Given the description of an element on the screen output the (x, y) to click on. 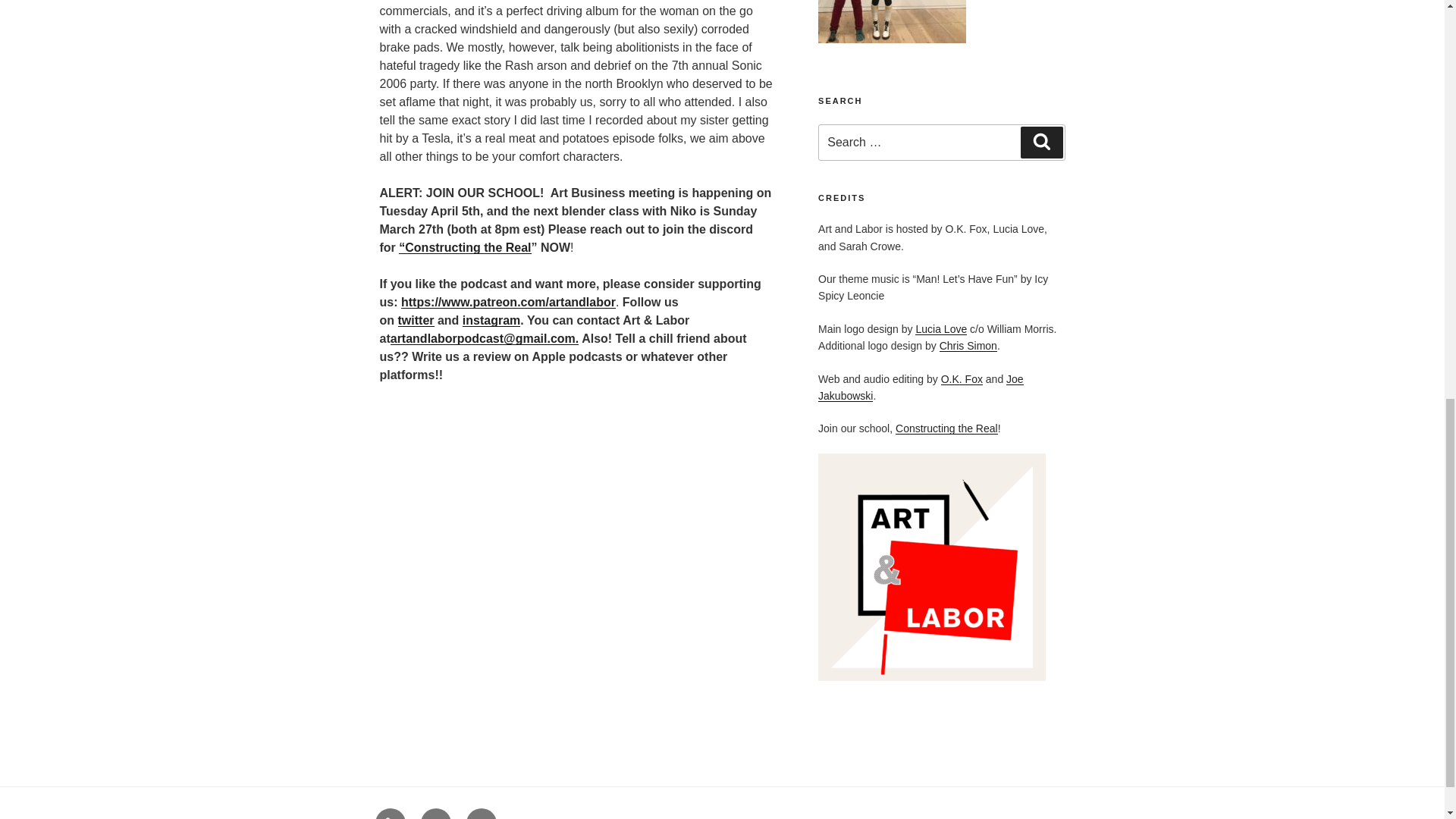
Chris Simon (968, 345)
Joe Jakubowski (920, 387)
O.K. Fox (961, 378)
twitter (415, 319)
Lucia Love (940, 328)
Search (1041, 142)
RSS (389, 813)
Constructing the Real (946, 428)
Email (480, 813)
